Given the description of an element on the screen output the (x, y) to click on. 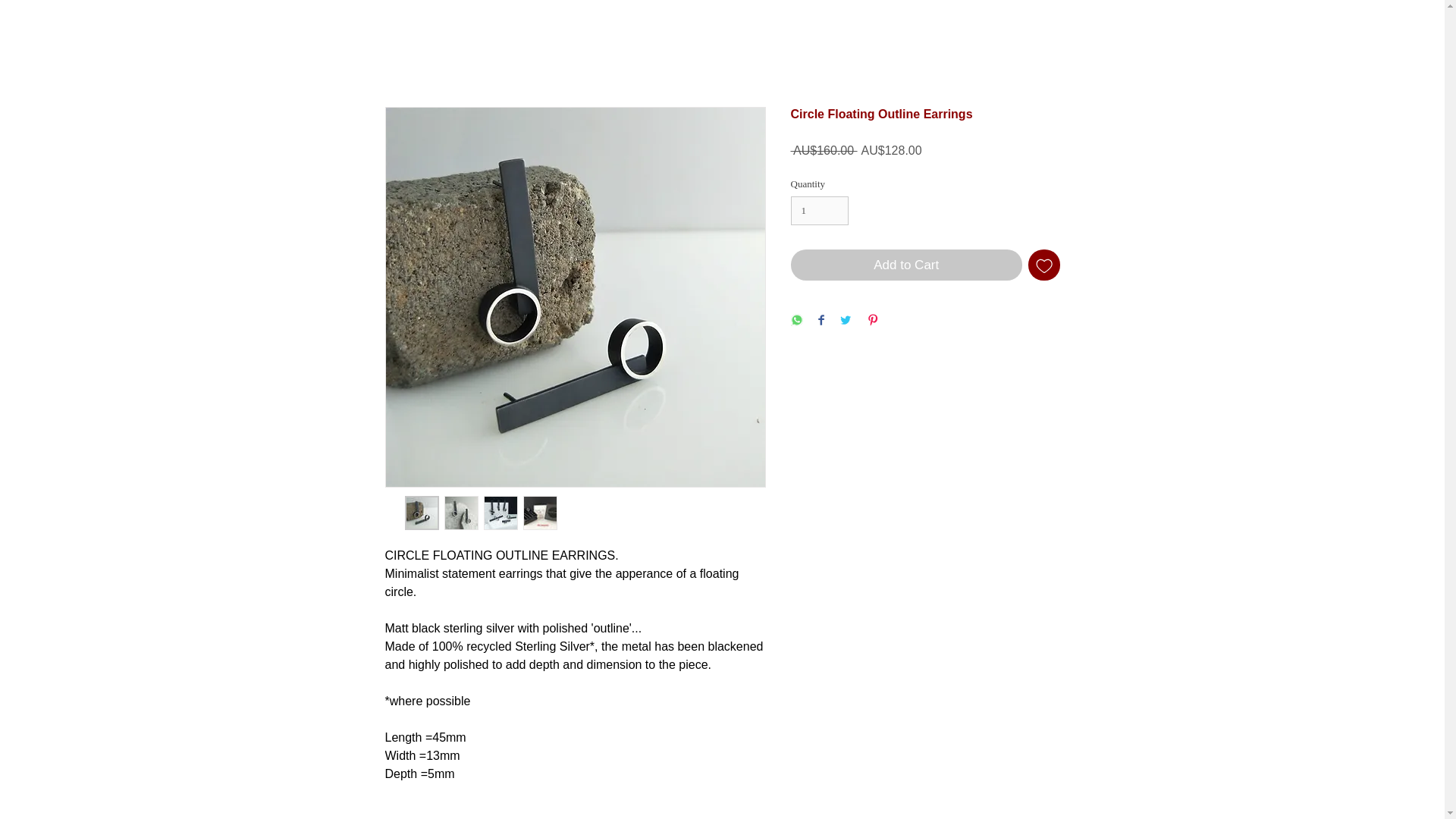
1 (818, 210)
Add to Cart (906, 265)
